Given the description of an element on the screen output the (x, y) to click on. 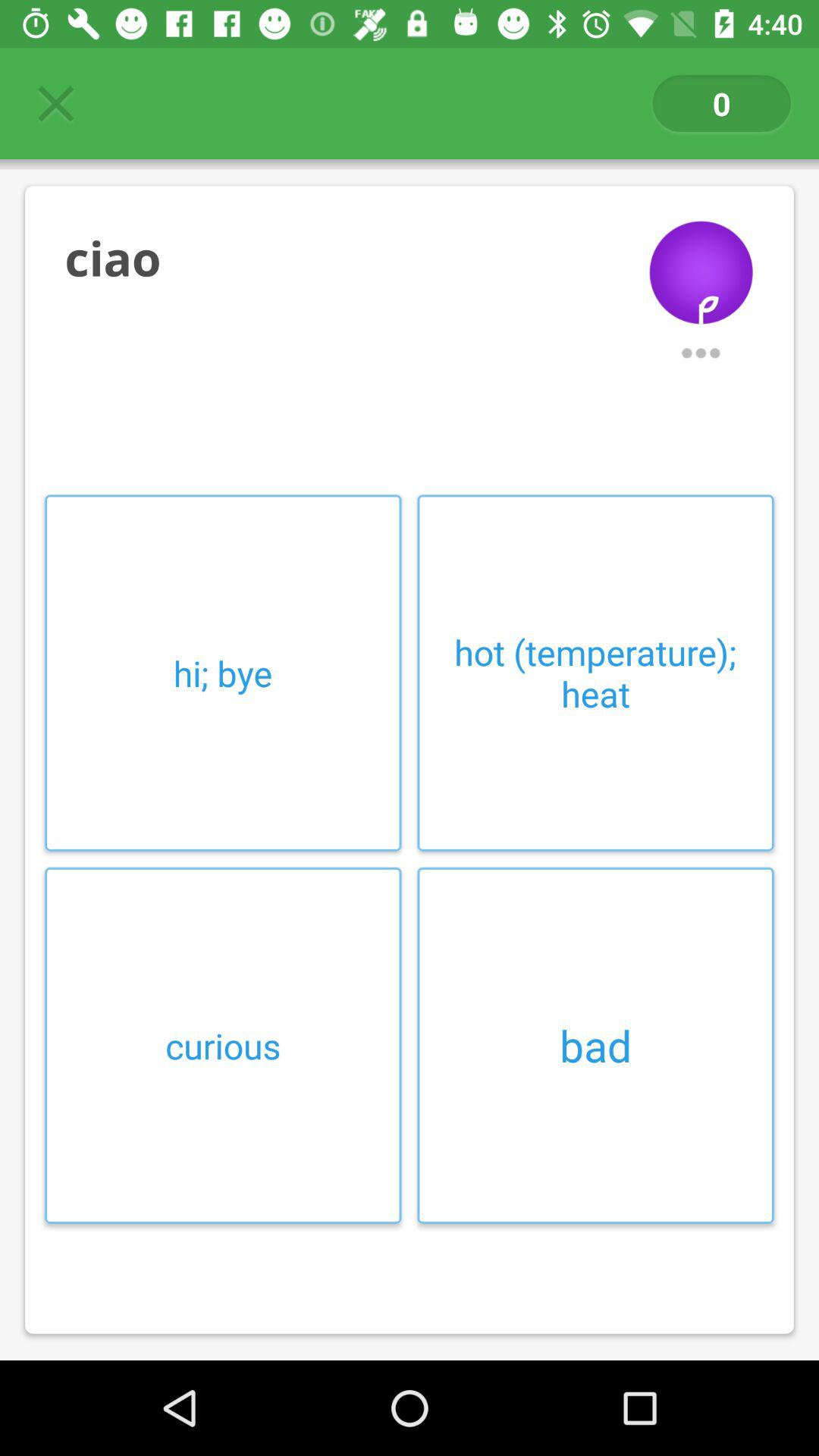
flip to hot (temperature); heat item (595, 672)
